Given the description of an element on the screen output the (x, y) to click on. 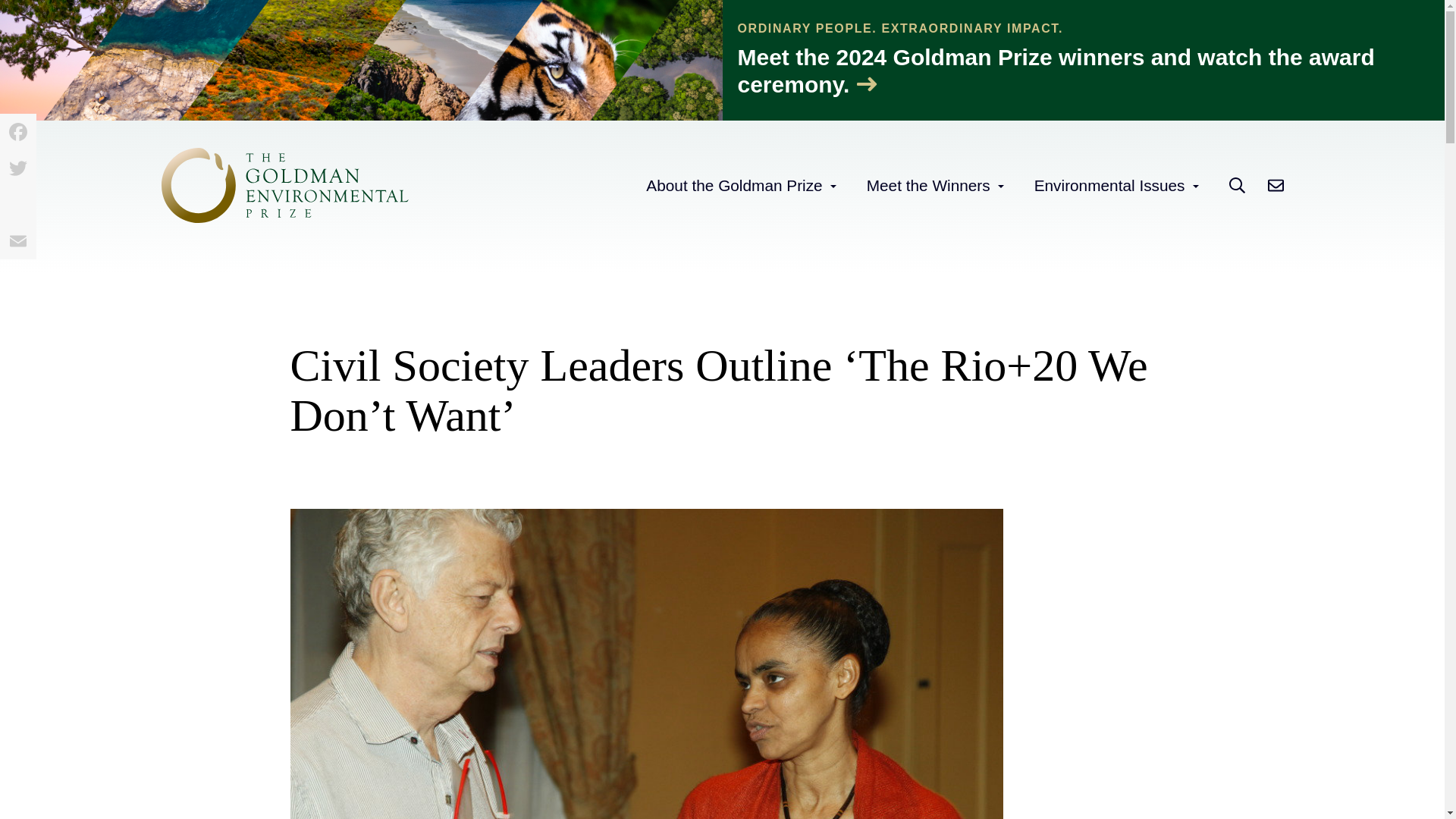
LinkedIn (18, 204)
Environmental Issues (1109, 185)
Twitter (18, 167)
Facebook (18, 131)
Meet the Winners (928, 185)
About the Goldman Prize (734, 185)
Email (18, 240)
